Given the description of an element on the screen output the (x, y) to click on. 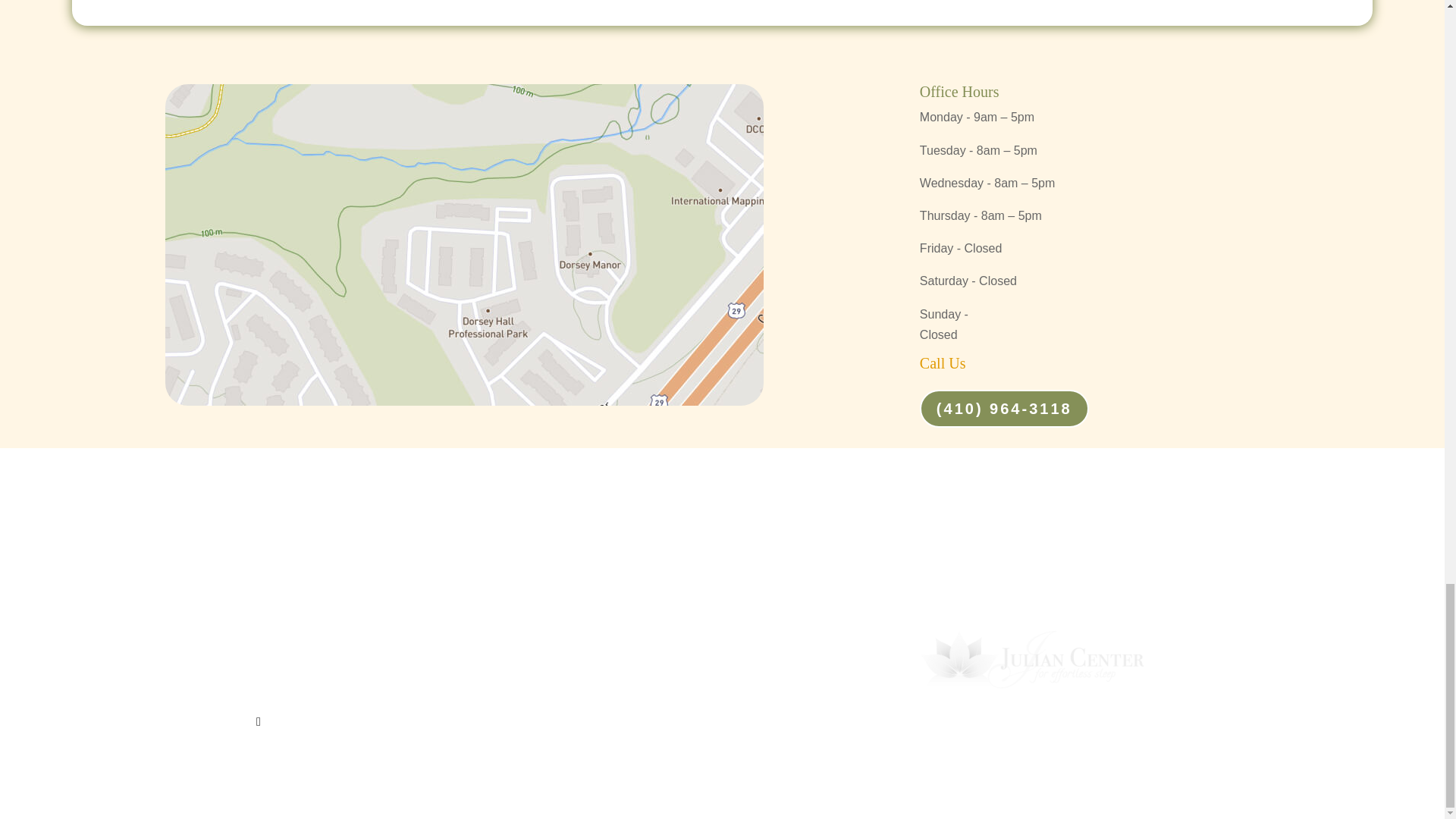
Follow on Google (349, 721)
Follow on Facebook (258, 721)
Follow on Instagram (379, 721)
Follow on Yelp (319, 721)
Follow on X (288, 721)
Follow on LinkedIn (409, 721)
